Given the description of an element on the screen output the (x, y) to click on. 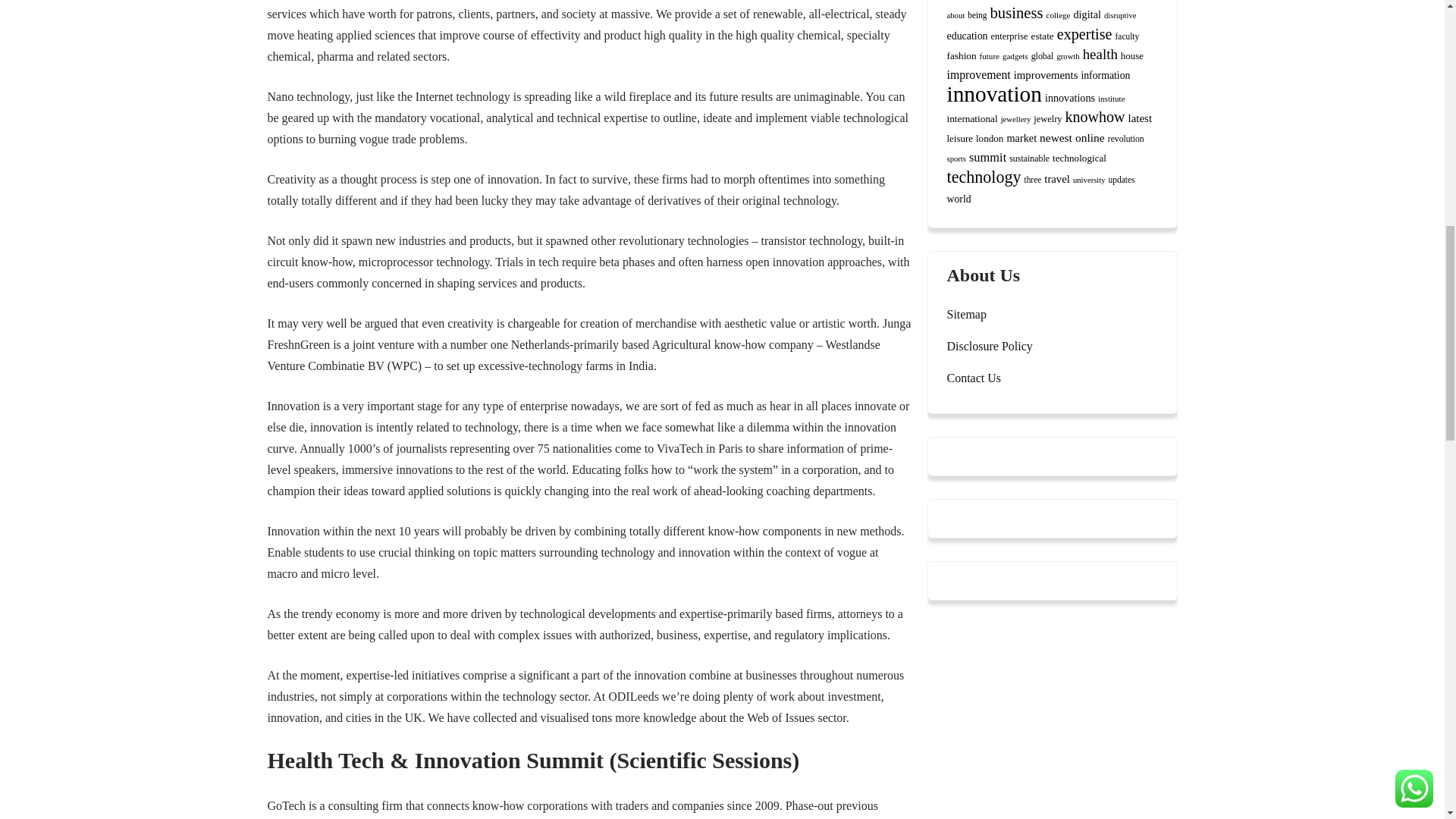
digital (1086, 14)
information (1104, 75)
disruptive (1120, 15)
improvement (978, 74)
education (966, 35)
faculty (1127, 35)
fashion (960, 55)
improvements (1045, 74)
about (954, 15)
health (1100, 53)
